Given the description of an element on the screen output the (x, y) to click on. 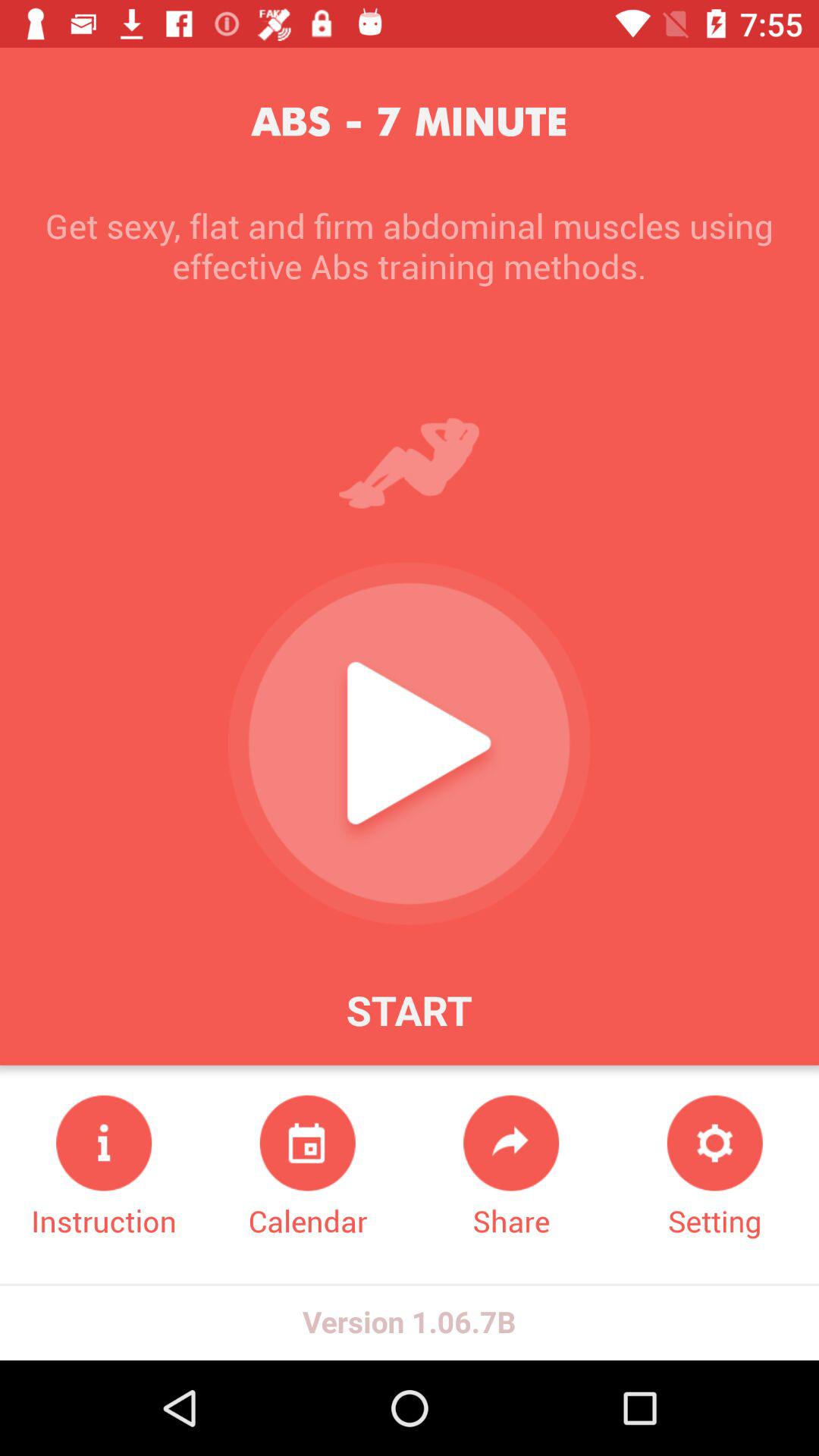
flip until share item (511, 1168)
